Given the description of an element on the screen output the (x, y) to click on. 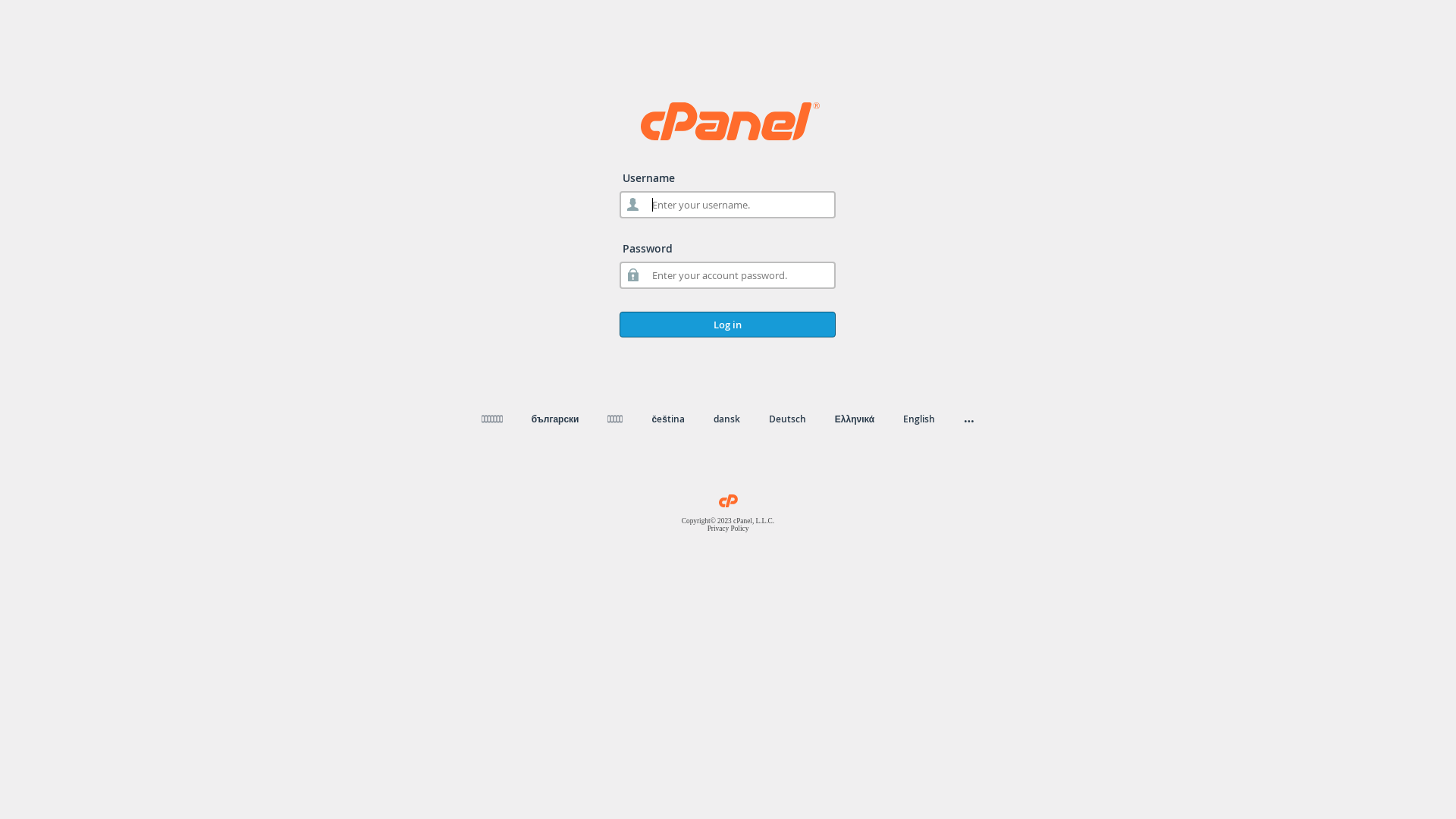
Privacy Policy Element type: text (728, 528)
English Element type: text (919, 418)
dansk Element type: text (726, 418)
Log in Element type: text (727, 324)
Deutsch Element type: text (787, 418)
